Given the description of an element on the screen output the (x, y) to click on. 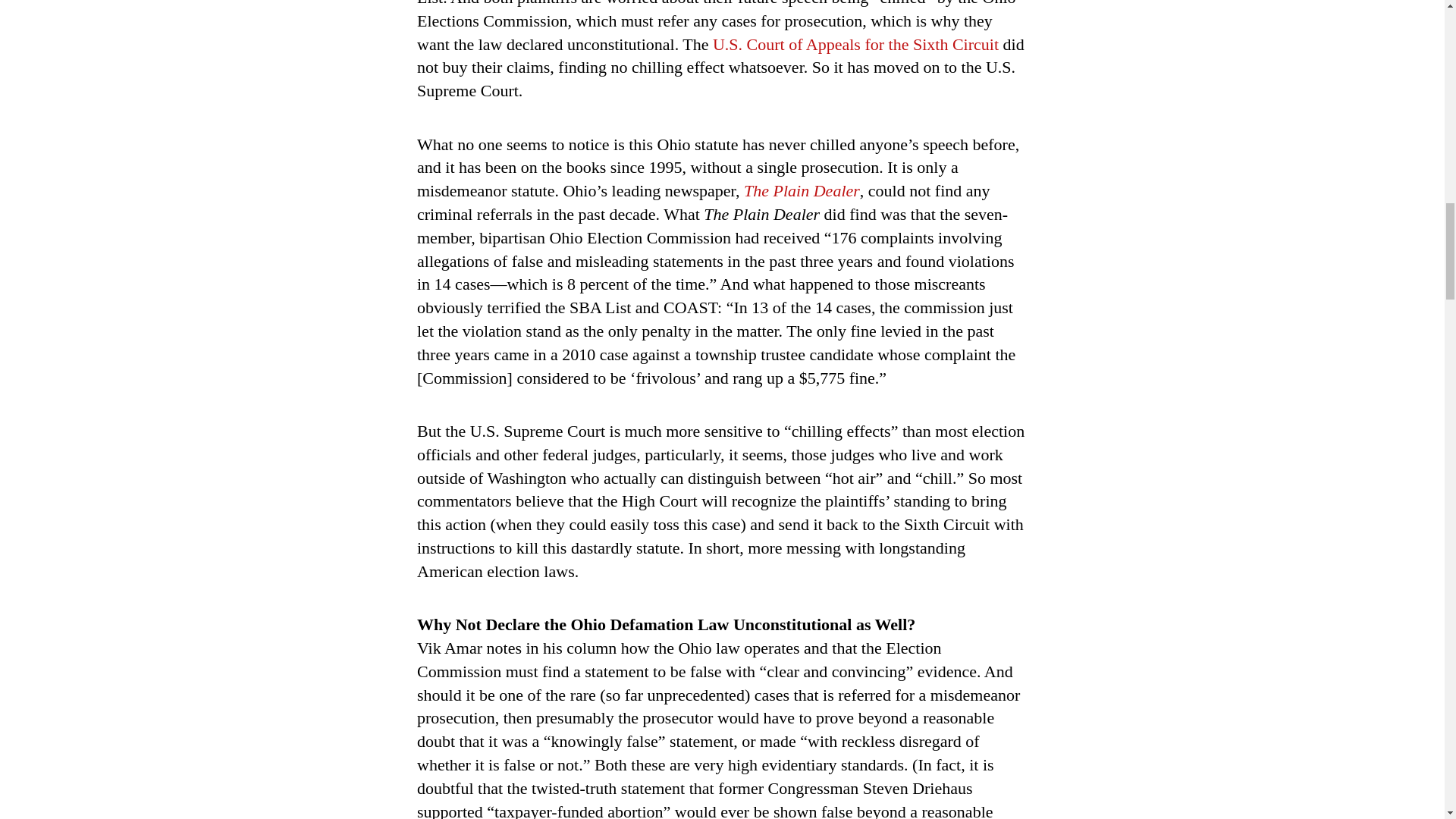
The Plain Dealer (802, 189)
U.S. Court of Appeals for the Sixth Circuit (855, 44)
